Given the description of an element on the screen output the (x, y) to click on. 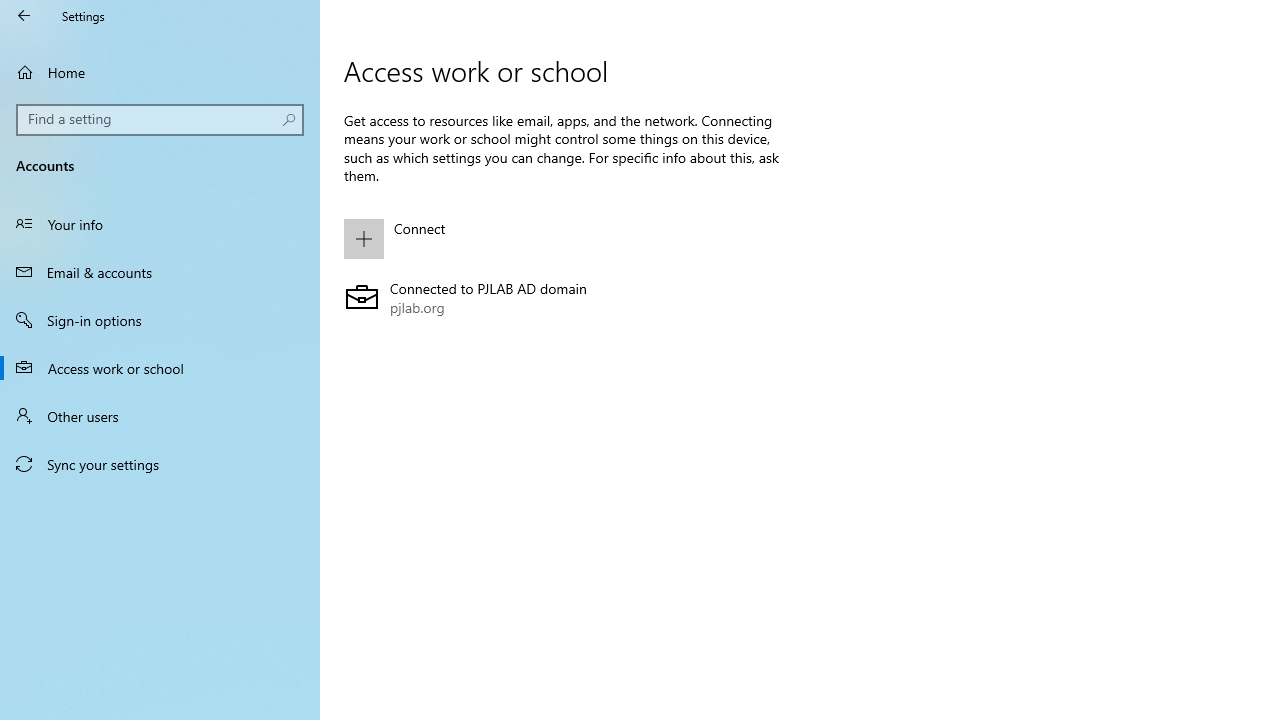
Search box, Find a setting (160, 119)
Email & accounts (160, 271)
Sign-in options (160, 319)
Back (24, 15)
Access work or school (160, 367)
Your info (160, 223)
Sync your settings (160, 463)
Connect (563, 238)
Connected to PJLAB AD domain pjlab.org (563, 299)
Other users (160, 415)
Home (160, 71)
